Given the description of an element on the screen output the (x, y) to click on. 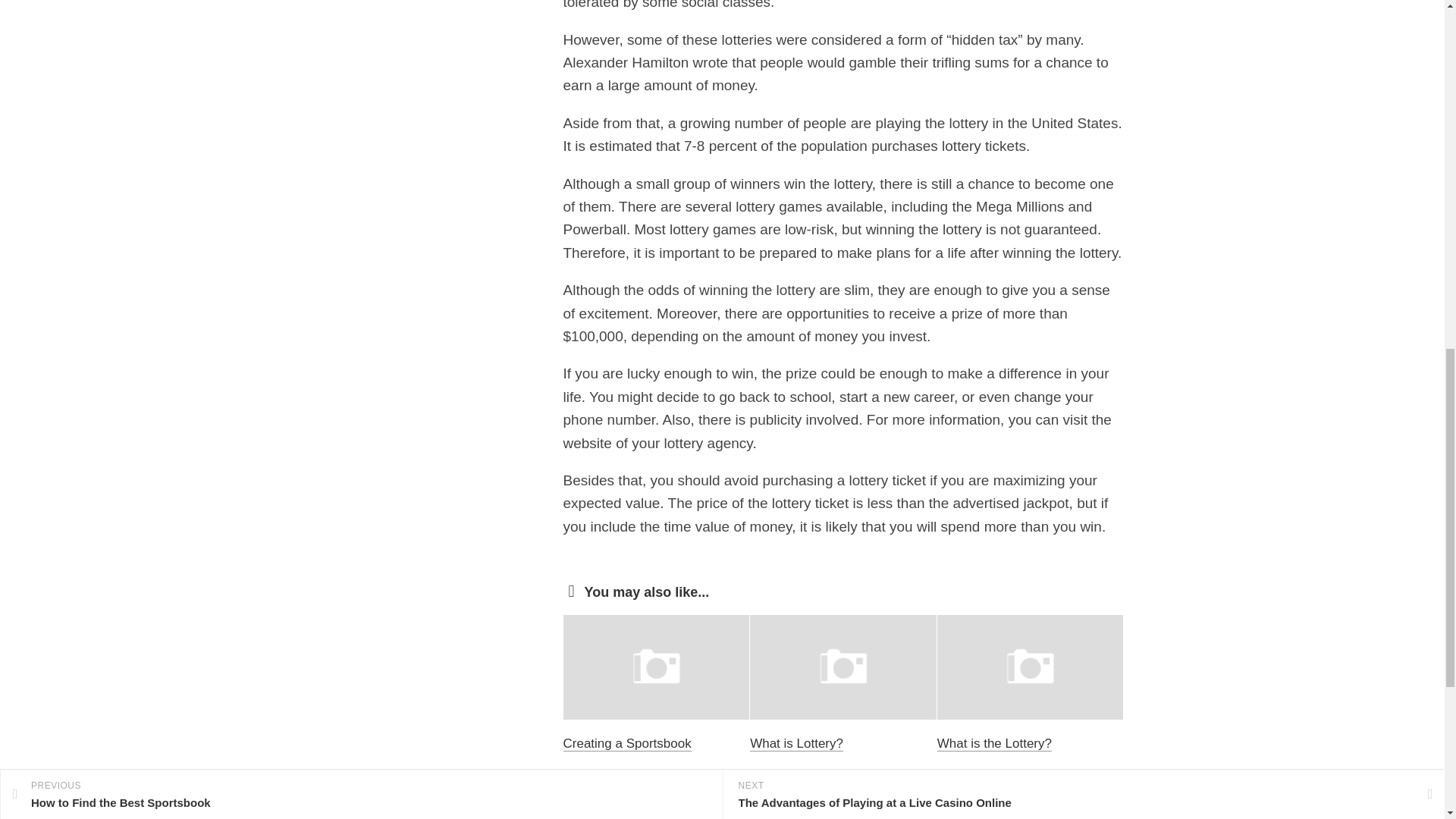
Creating a Sportsbook (626, 743)
What is Lottery? (796, 743)
What is the Lottery? (994, 743)
